Given the description of an element on the screen output the (x, y) to click on. 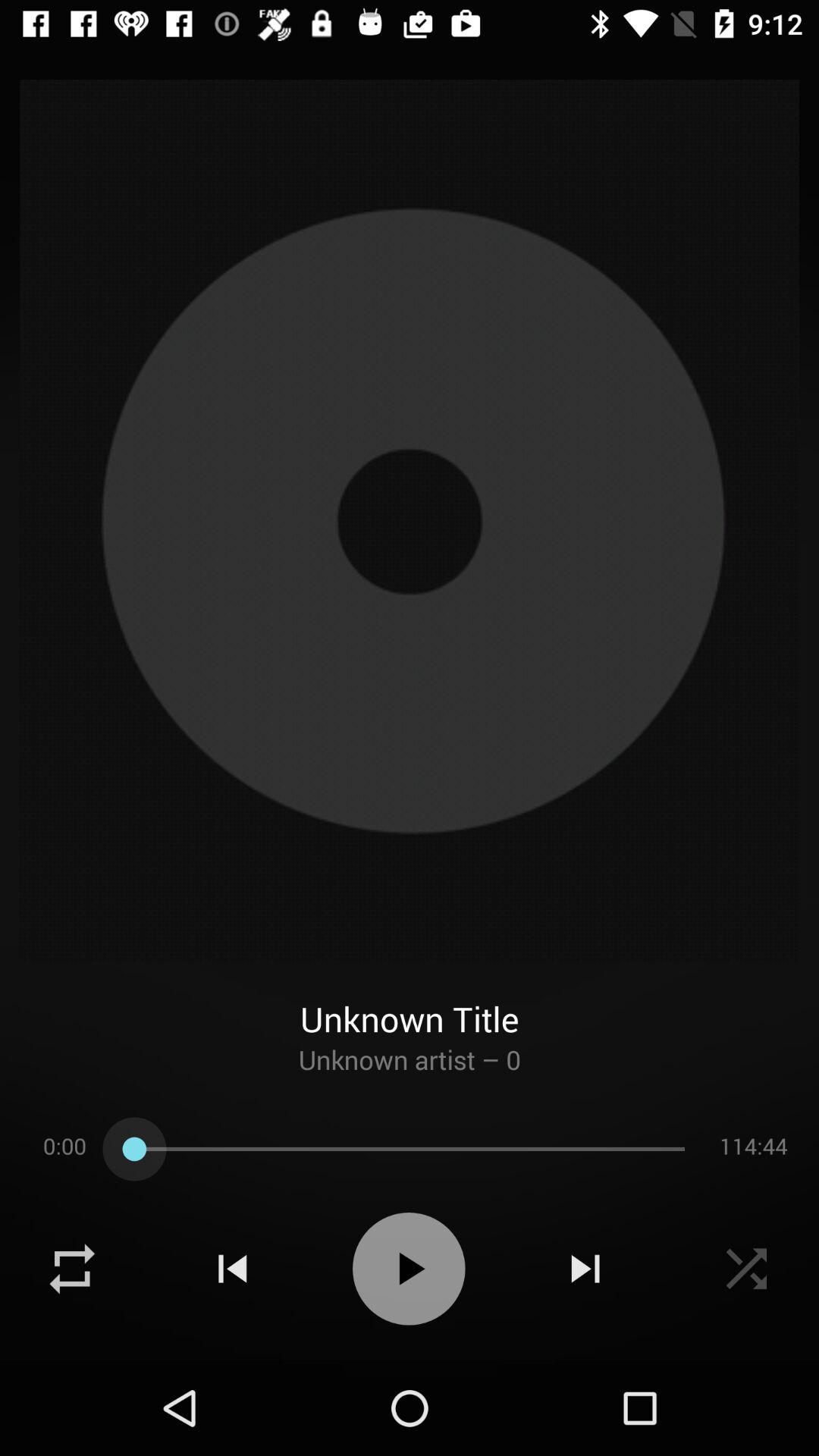
click item above the 0:00 (409, 1073)
